Given the description of an element on the screen output the (x, y) to click on. 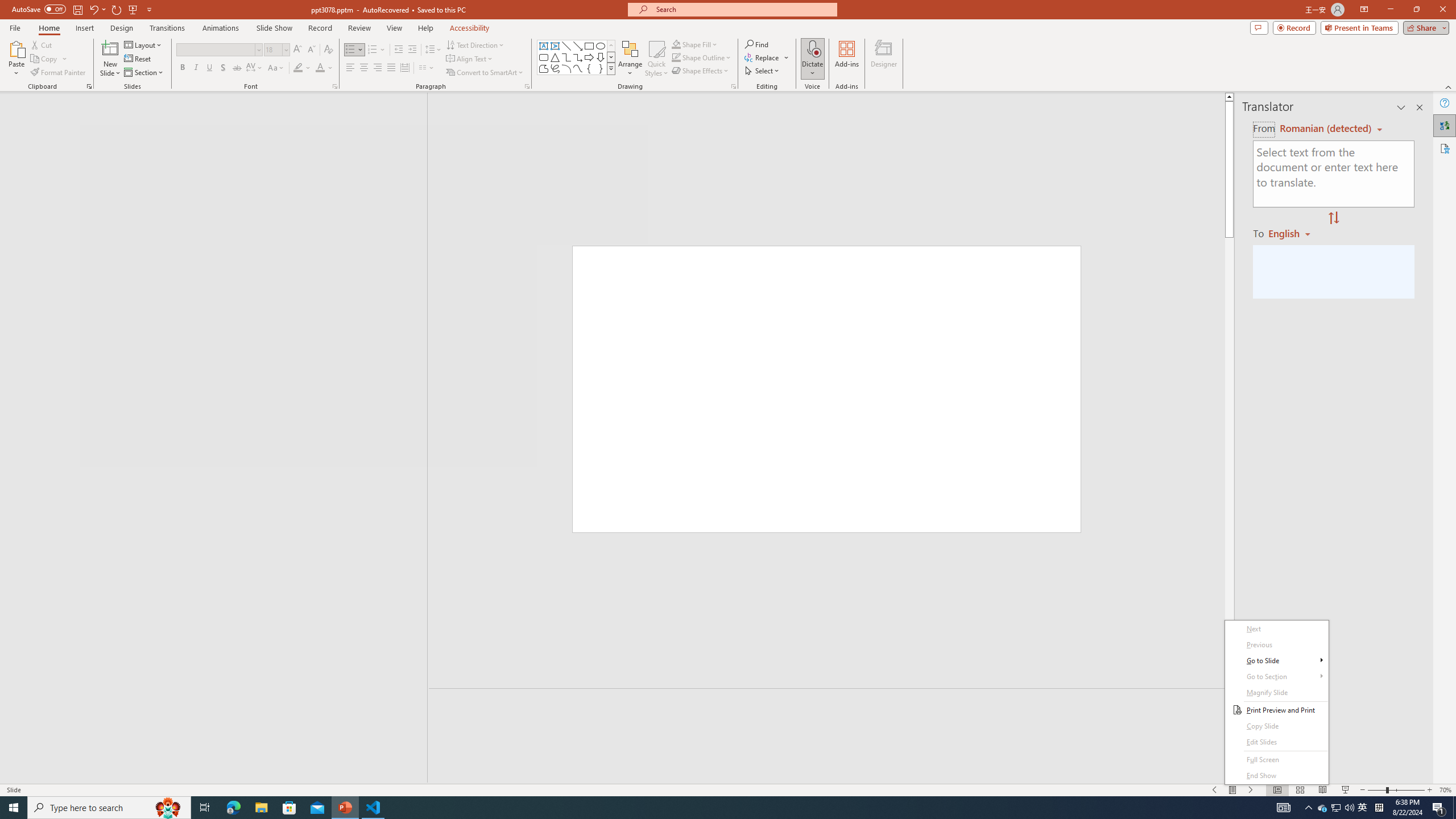
Slide Show Previous On (1214, 790)
Full Screen (1276, 759)
